Given the description of an element on the screen output the (x, y) to click on. 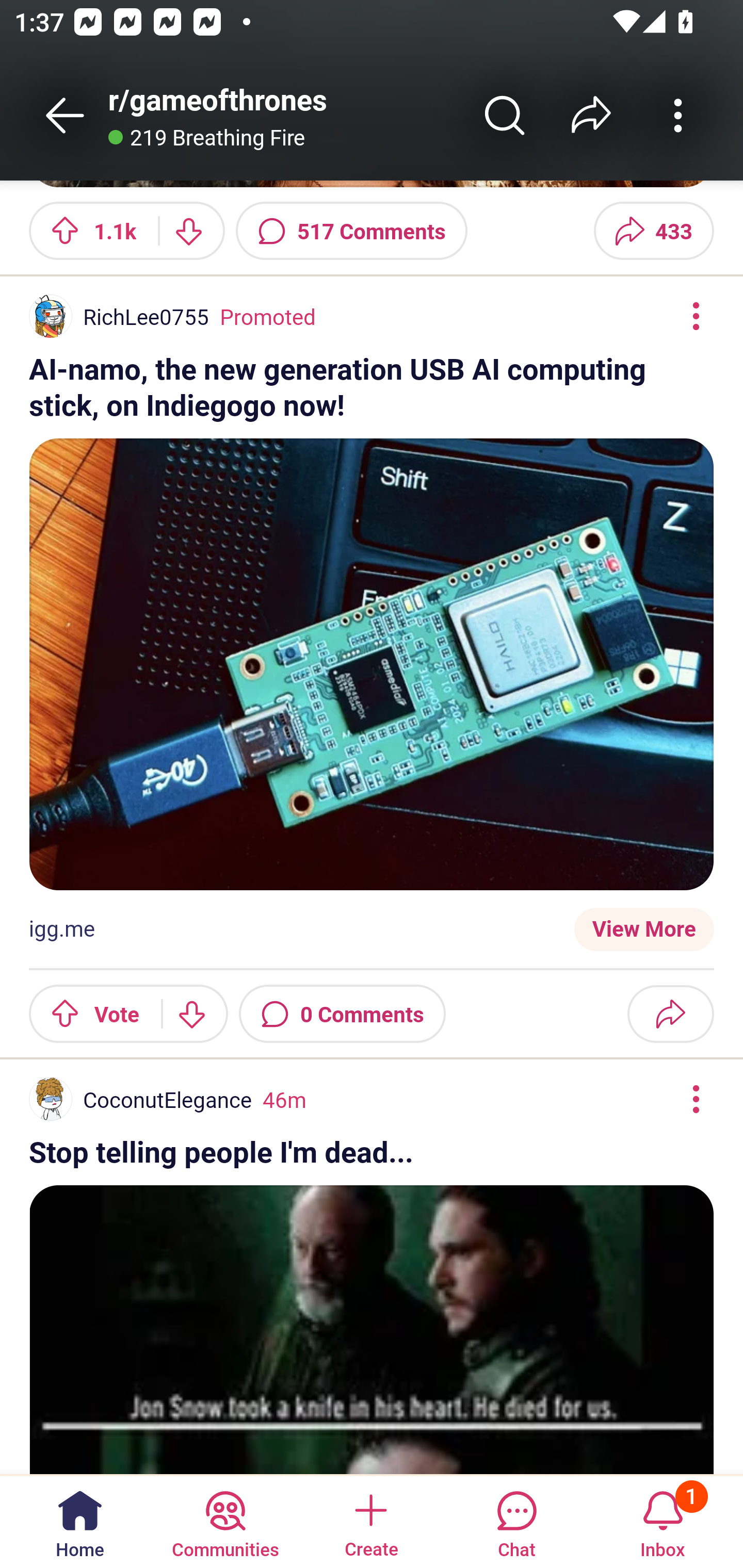
Back (64, 115)
Search r/﻿gameofthrones (504, 115)
Share r/﻿gameofthrones (591, 115)
More community actions (677, 115)
Home (80, 1520)
Communities (225, 1520)
Create a post Create (370, 1520)
Chat (516, 1520)
Inbox, has 1 notification 1 Inbox (662, 1520)
